Given the description of an element on the screen output the (x, y) to click on. 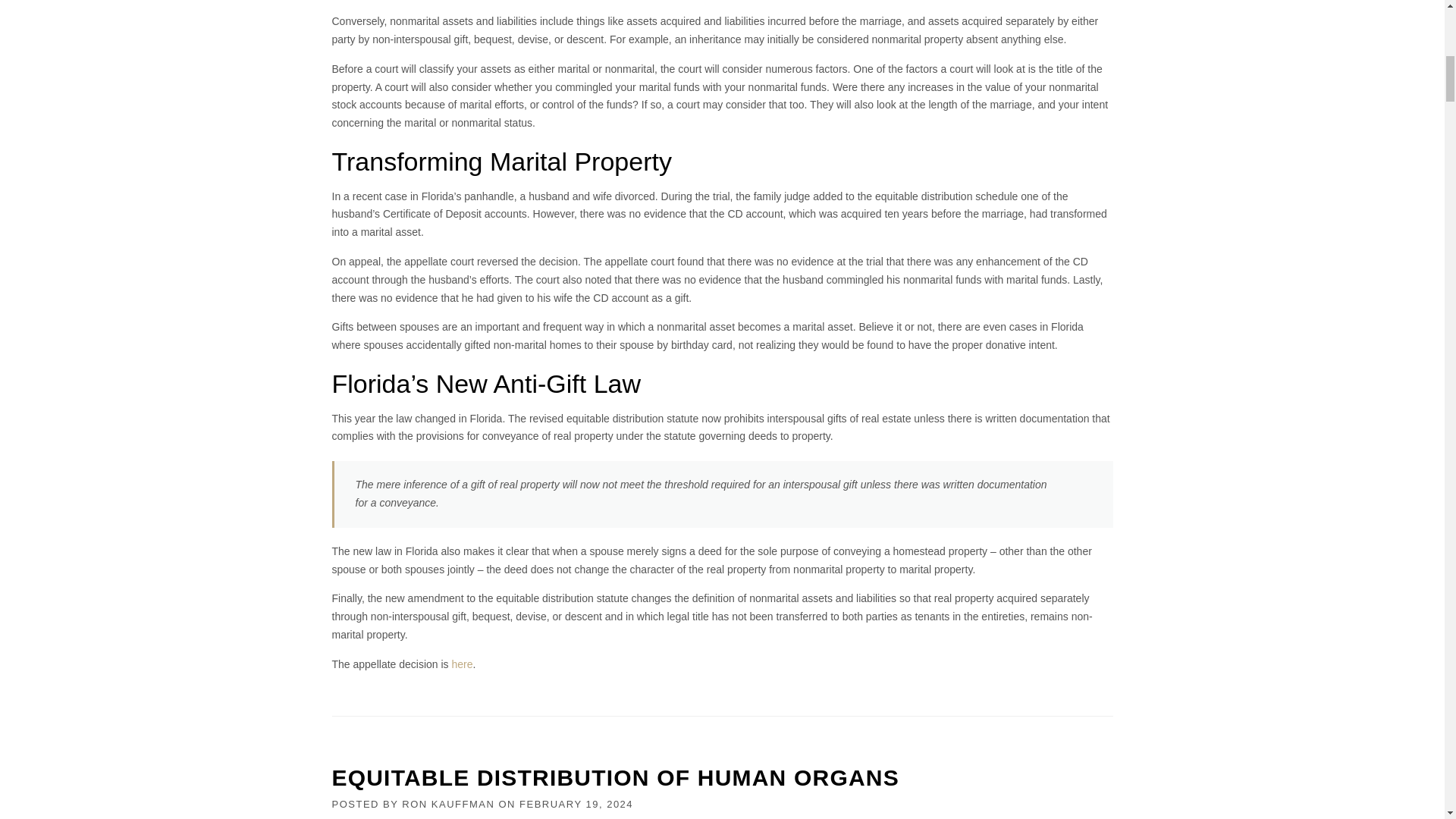
RON KAUFFMAN (448, 803)
EQUITABLE DISTRIBUTION OF HUMAN ORGANS (615, 777)
FEBRUARY 19, 2024 (576, 803)
here (462, 664)
